Given the description of an element on the screen output the (x, y) to click on. 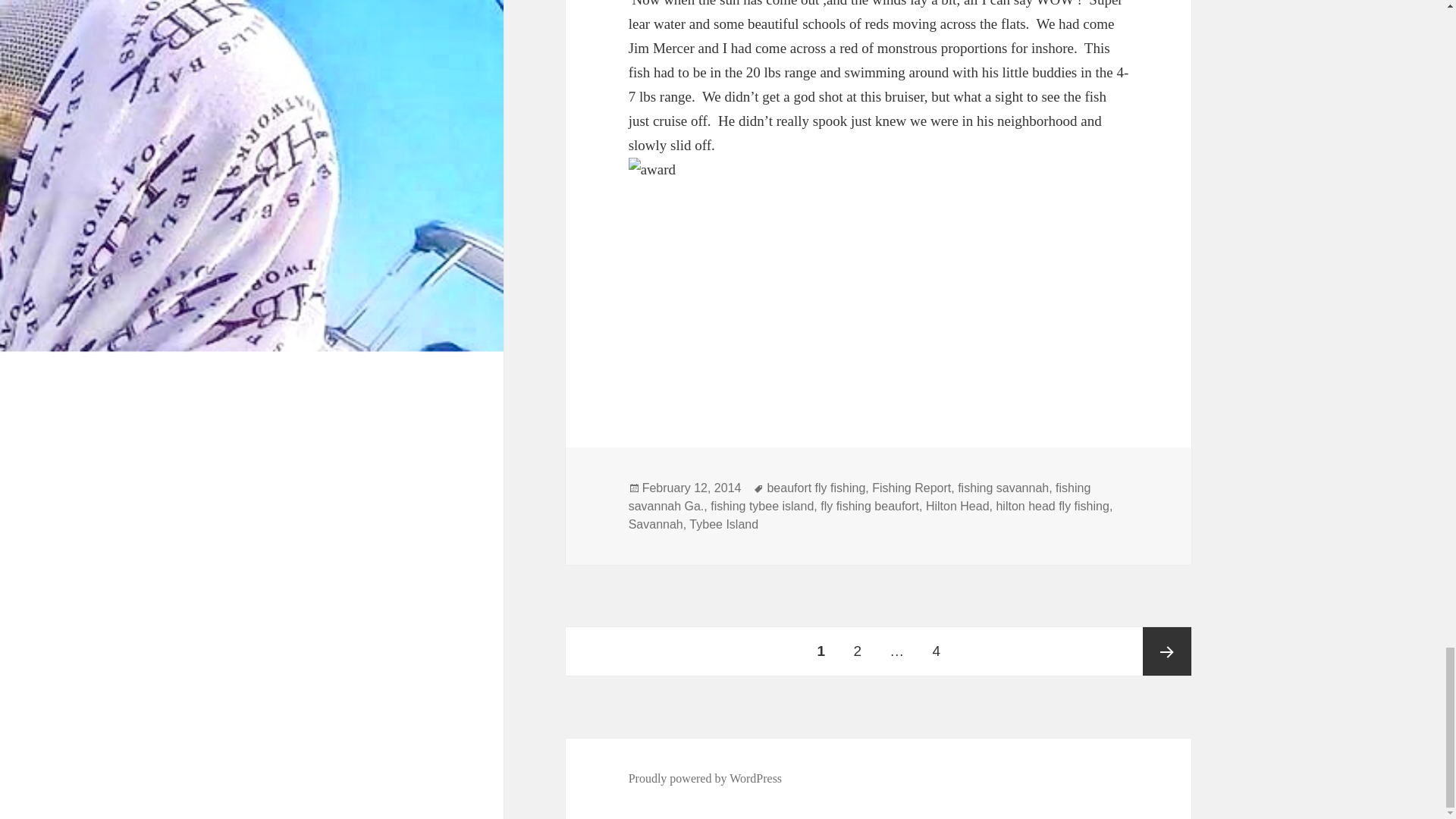
February 12, 2014 (691, 488)
beaufort fly fishing (815, 488)
Fishing Report (911, 488)
fishing savannah (1003, 488)
